Given the description of an element on the screen output the (x, y) to click on. 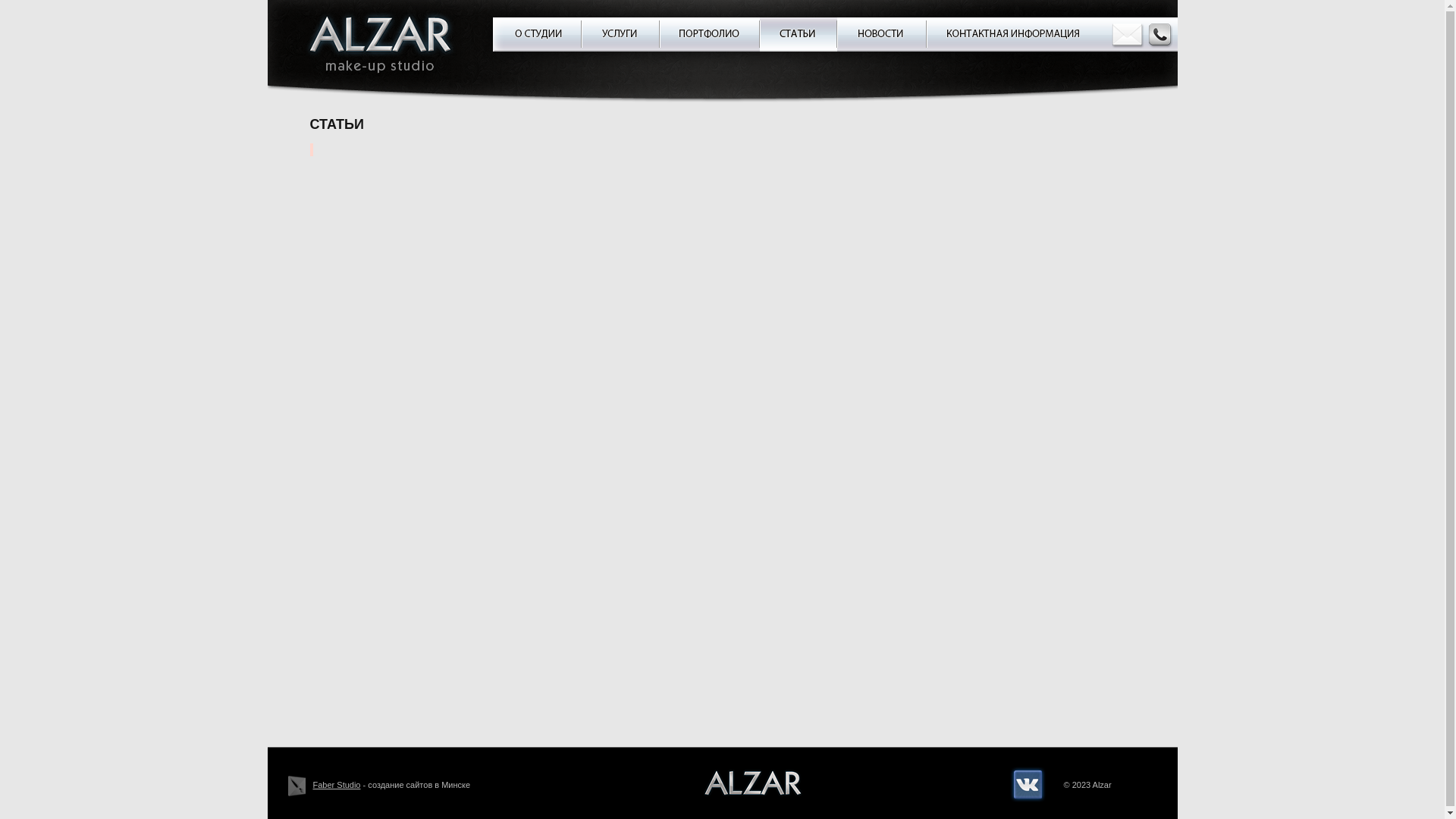
Faber Studio Element type: text (336, 784)
natzet1971@mail.ru Element type: hover (1127, 35)
